Given the description of an element on the screen output the (x, y) to click on. 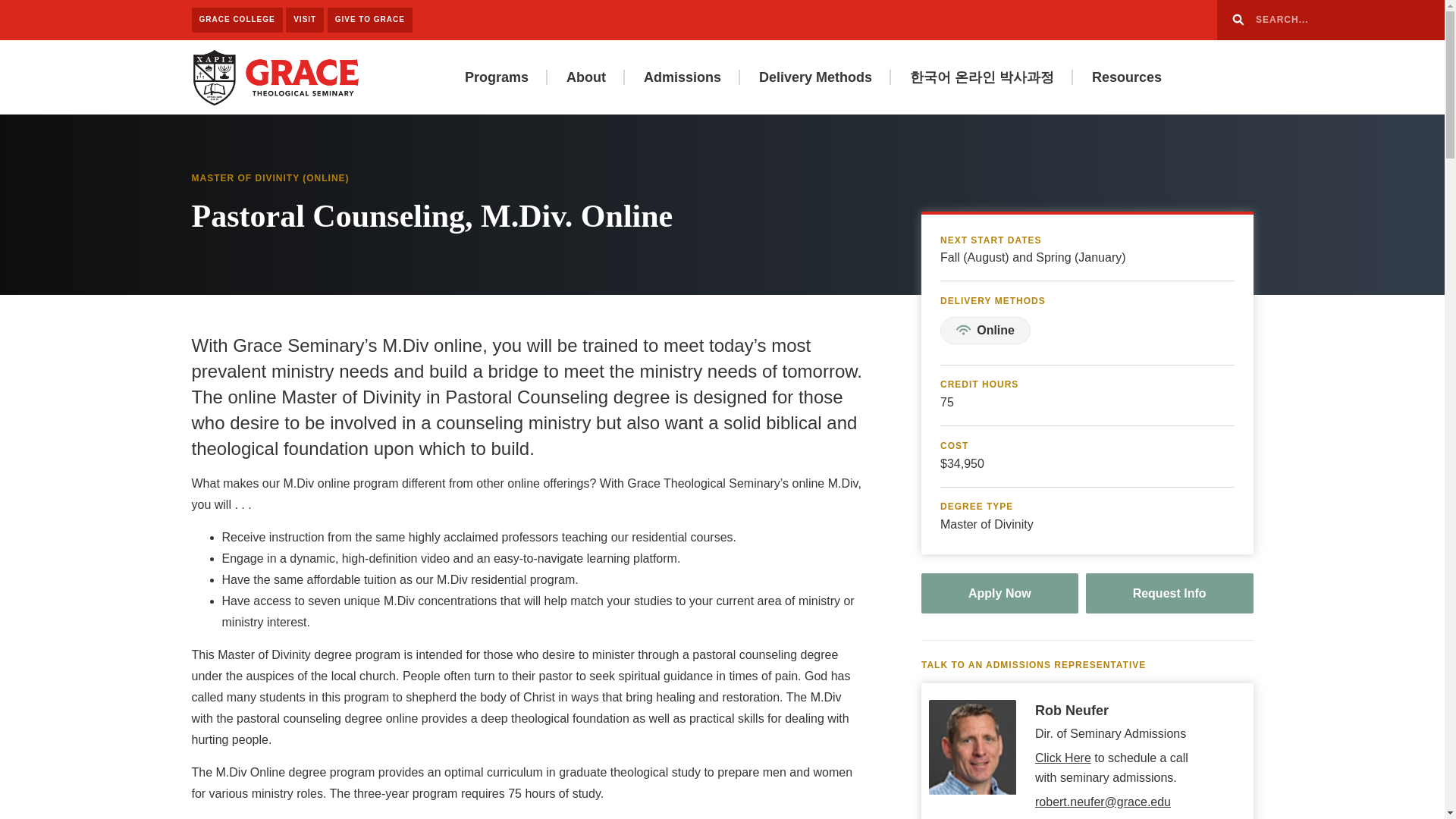
Programs (496, 77)
GRACE COLLEGE (236, 19)
VISIT (304, 19)
GIVE TO GRACE (369, 19)
Grace Theological Seminary (274, 76)
